Given the description of an element on the screen output the (x, y) to click on. 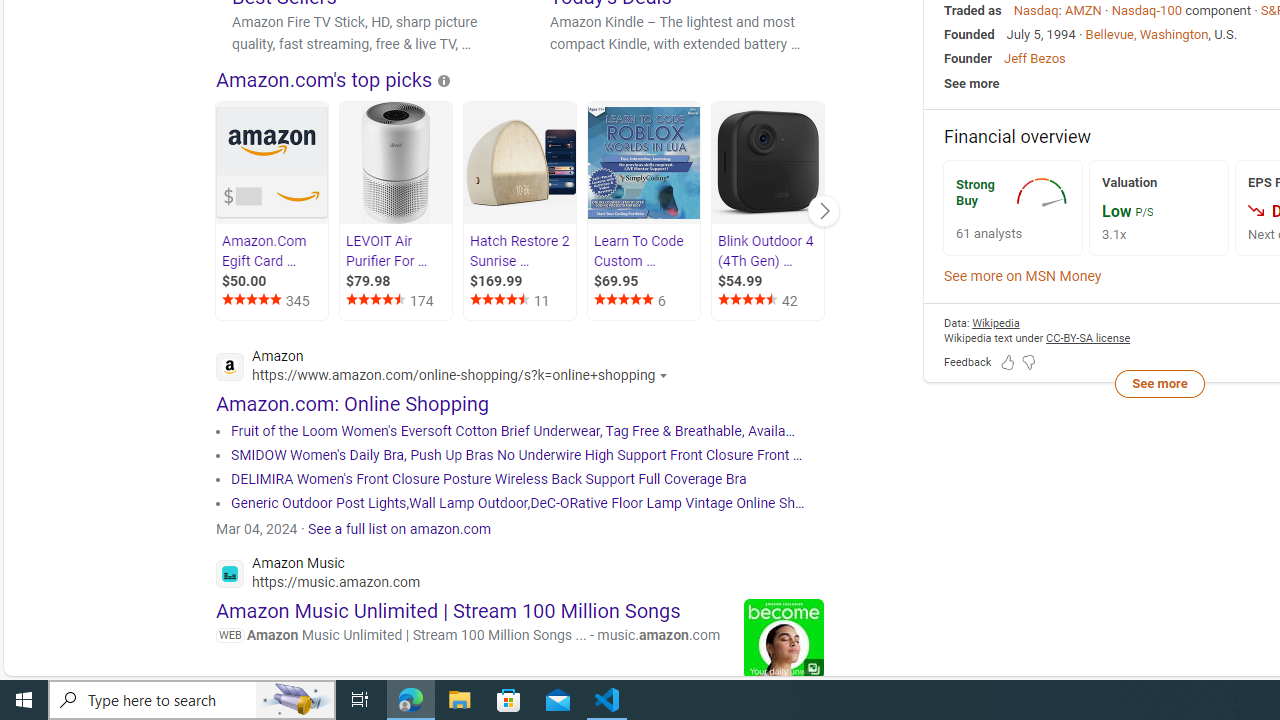
Actions for this site (666, 375)
11 (521, 300)
Class: rms_img (1256, 210)
See a full list on amazon.com (399, 528)
42 (769, 300)
Founded (969, 34)
